Given the description of an element on the screen output the (x, y) to click on. 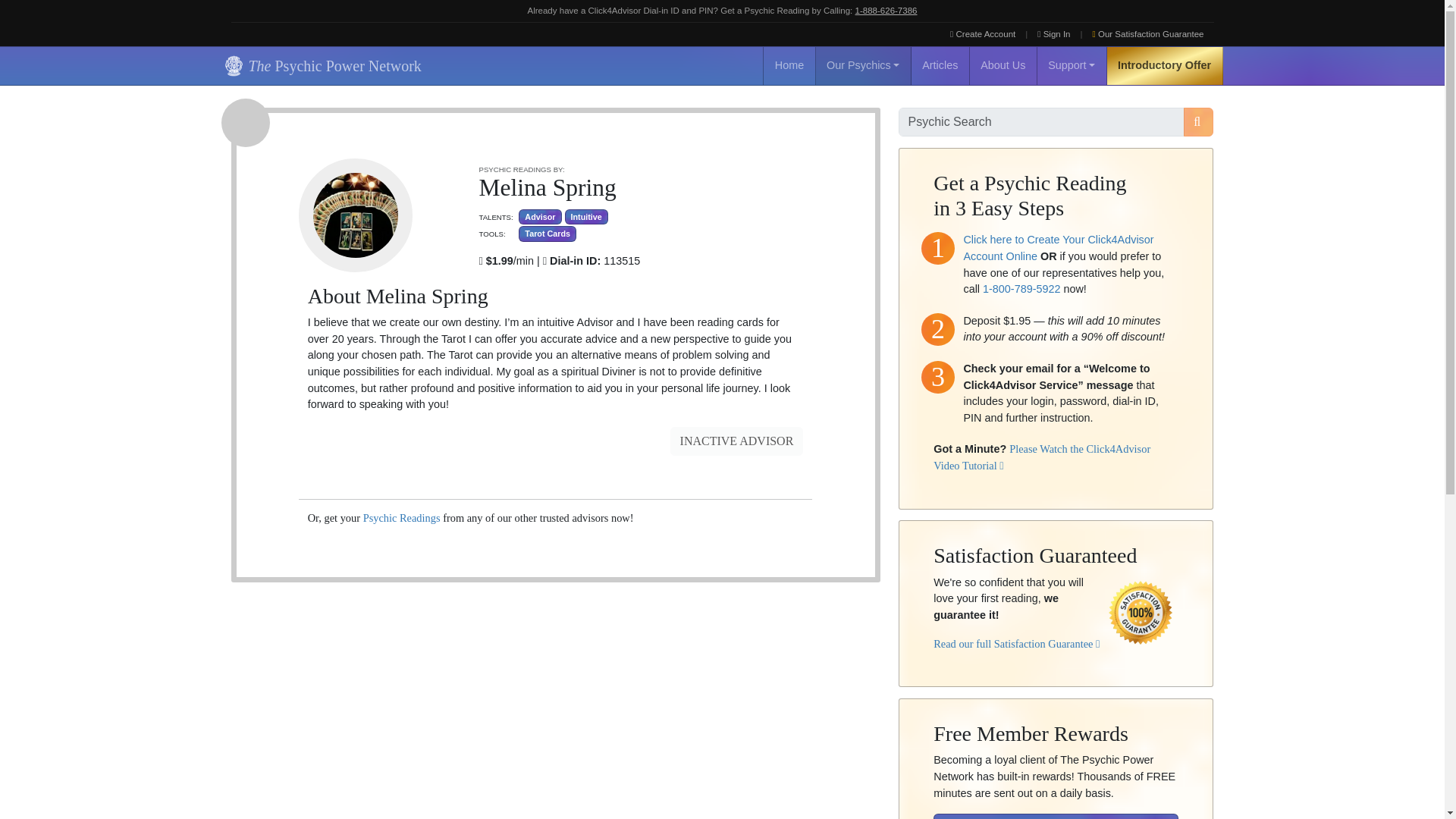
Articles (940, 65)
Support (1071, 65)
Read our full Satisfaction Guarantee  (1016, 644)
Psychic Readings (401, 517)
Click here to Create Your Click4Advisor Account Online (1057, 247)
Please Watch the Click4Advisor Video Tutorial  (1041, 457)
Our Psychics (863, 65)
About Us (1002, 65)
Psychic Readings (401, 517)
